Given the description of an element on the screen output the (x, y) to click on. 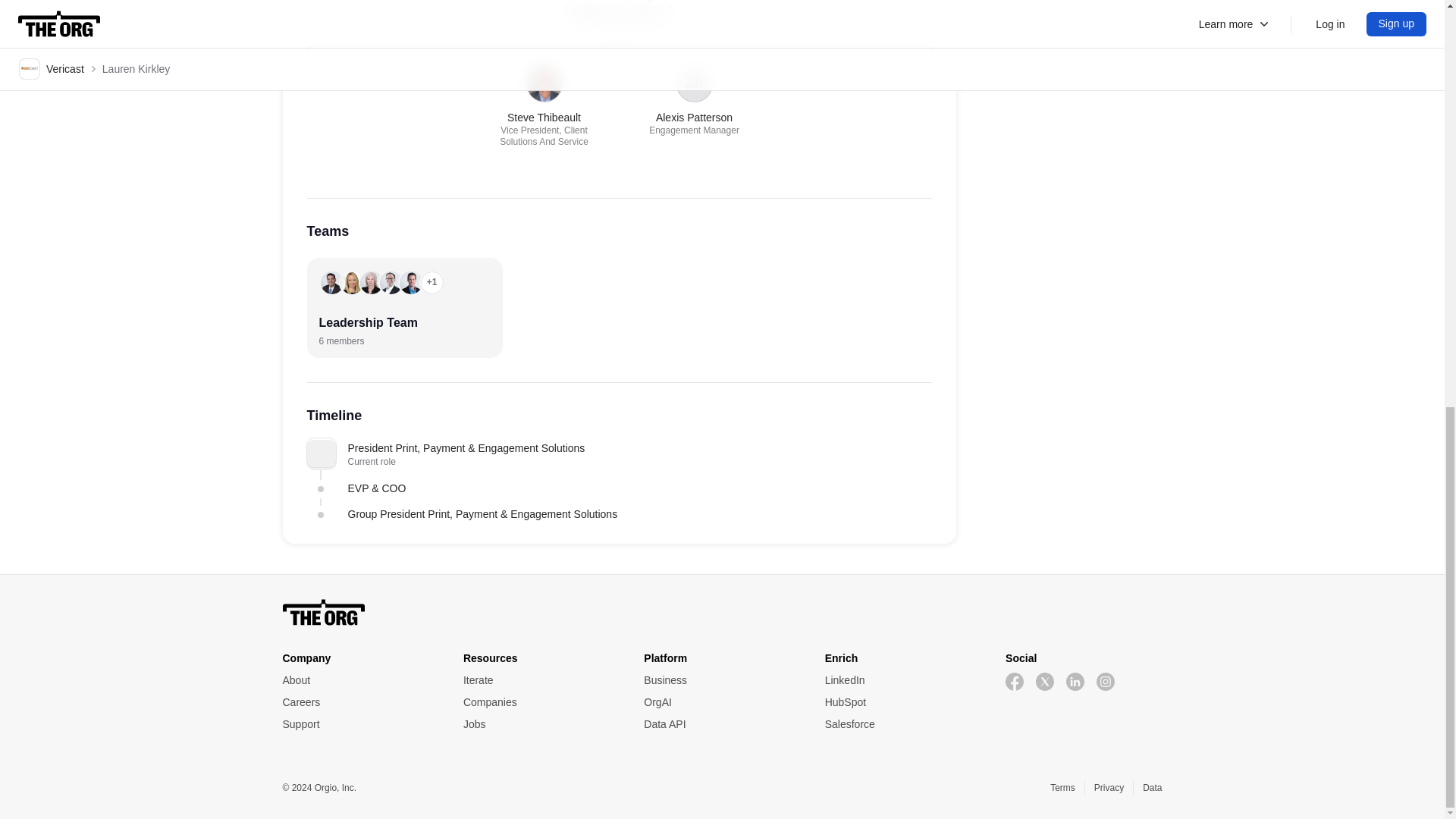
Jobs (541, 723)
OrgAI (721, 702)
HubSpot (903, 702)
Privacy (1109, 787)
Iterate (541, 679)
Careers (360, 702)
HubSpot (903, 702)
Careers (360, 702)
